Given the description of an element on the screen output the (x, y) to click on. 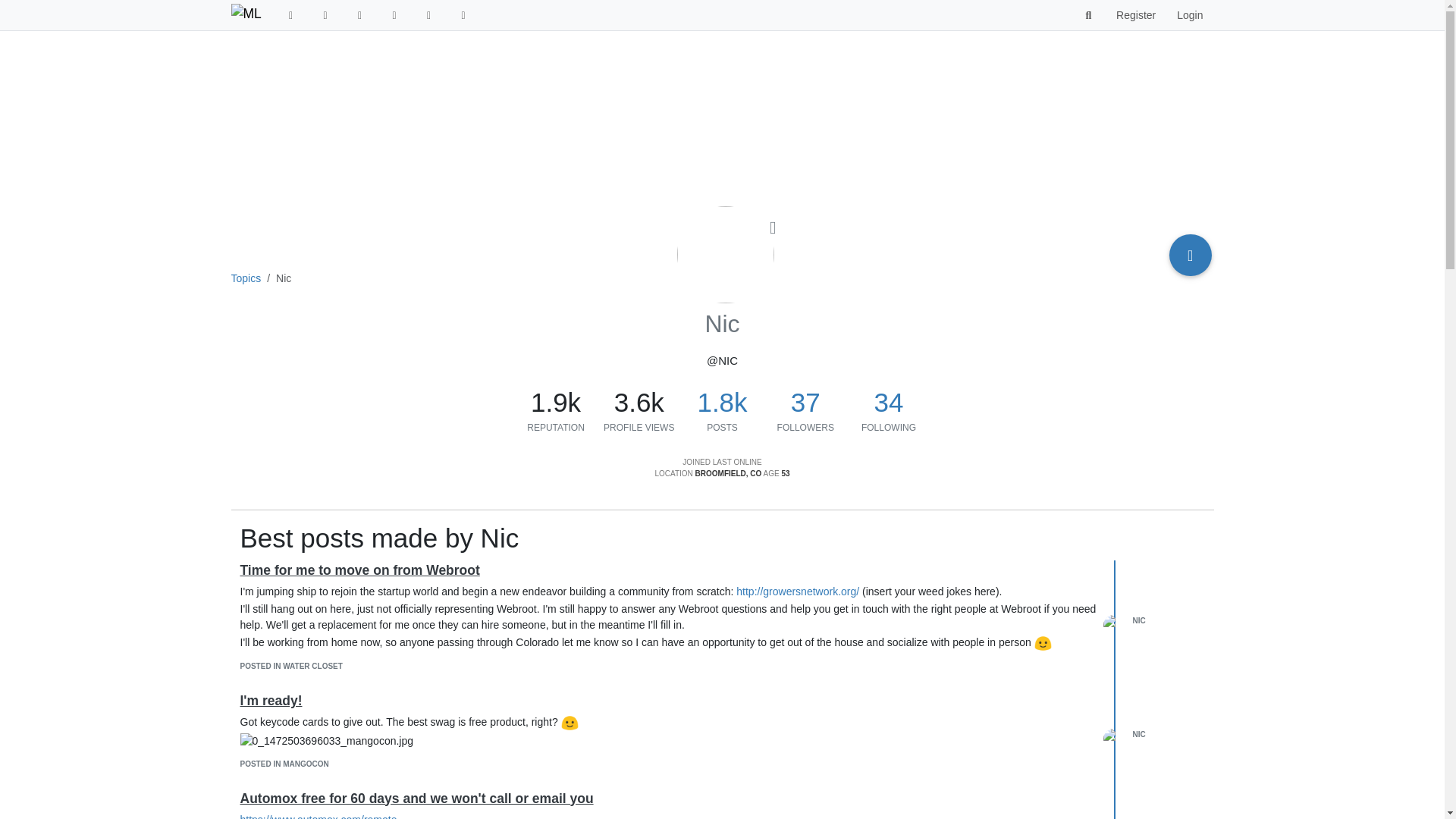
NIC (1138, 620)
Recent (290, 15)
1.8k (721, 401)
1950 (556, 402)
Register (1135, 15)
POSTED IN WATER CLOSET (291, 665)
Users (429, 15)
34 (887, 401)
Time for me to move on from Webroot (359, 570)
3575 (639, 402)
